Given the description of an element on the screen output the (x, y) to click on. 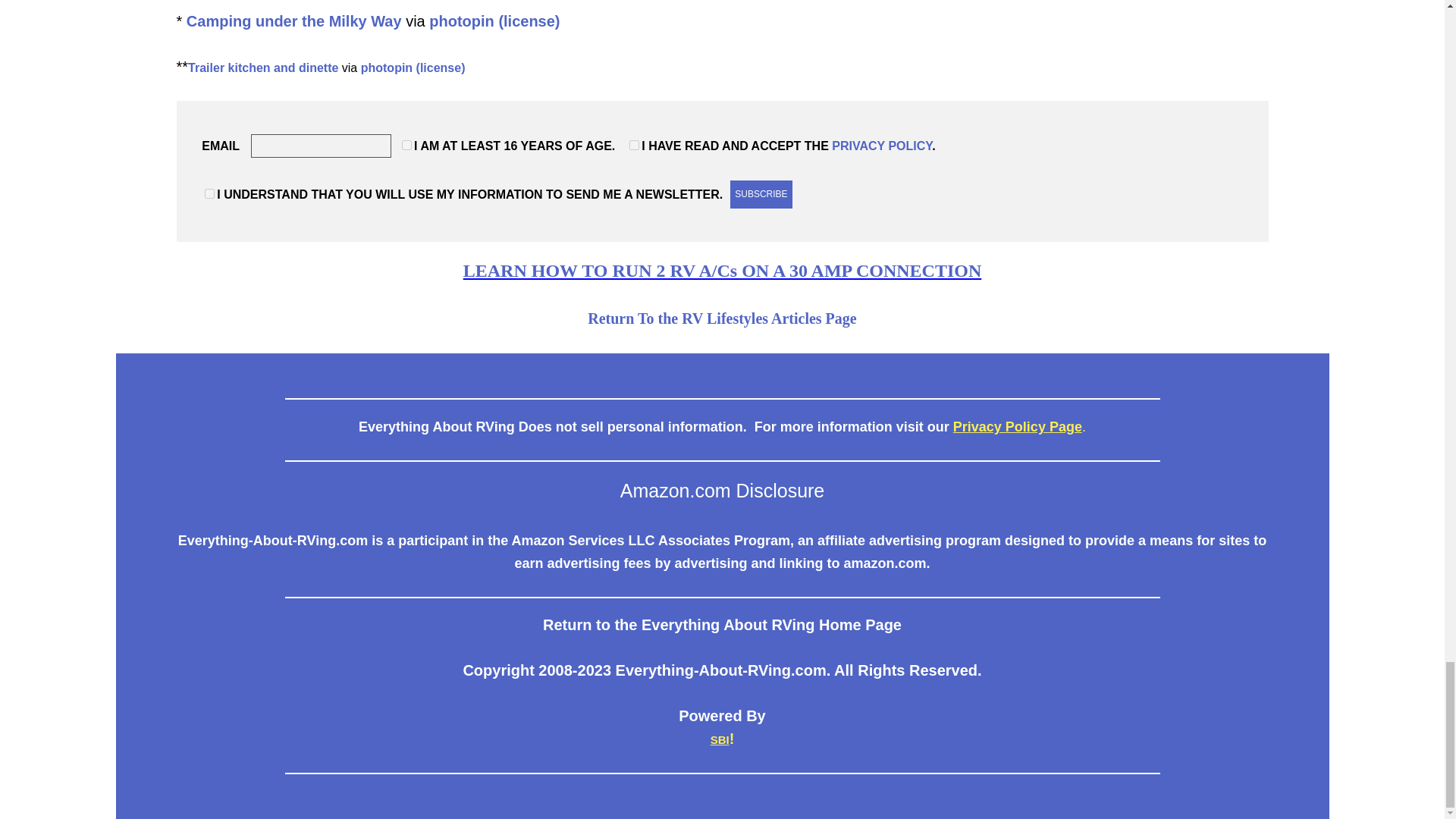
on (633, 144)
on (406, 144)
on (209, 194)
